Given the description of an element on the screen output the (x, y) to click on. 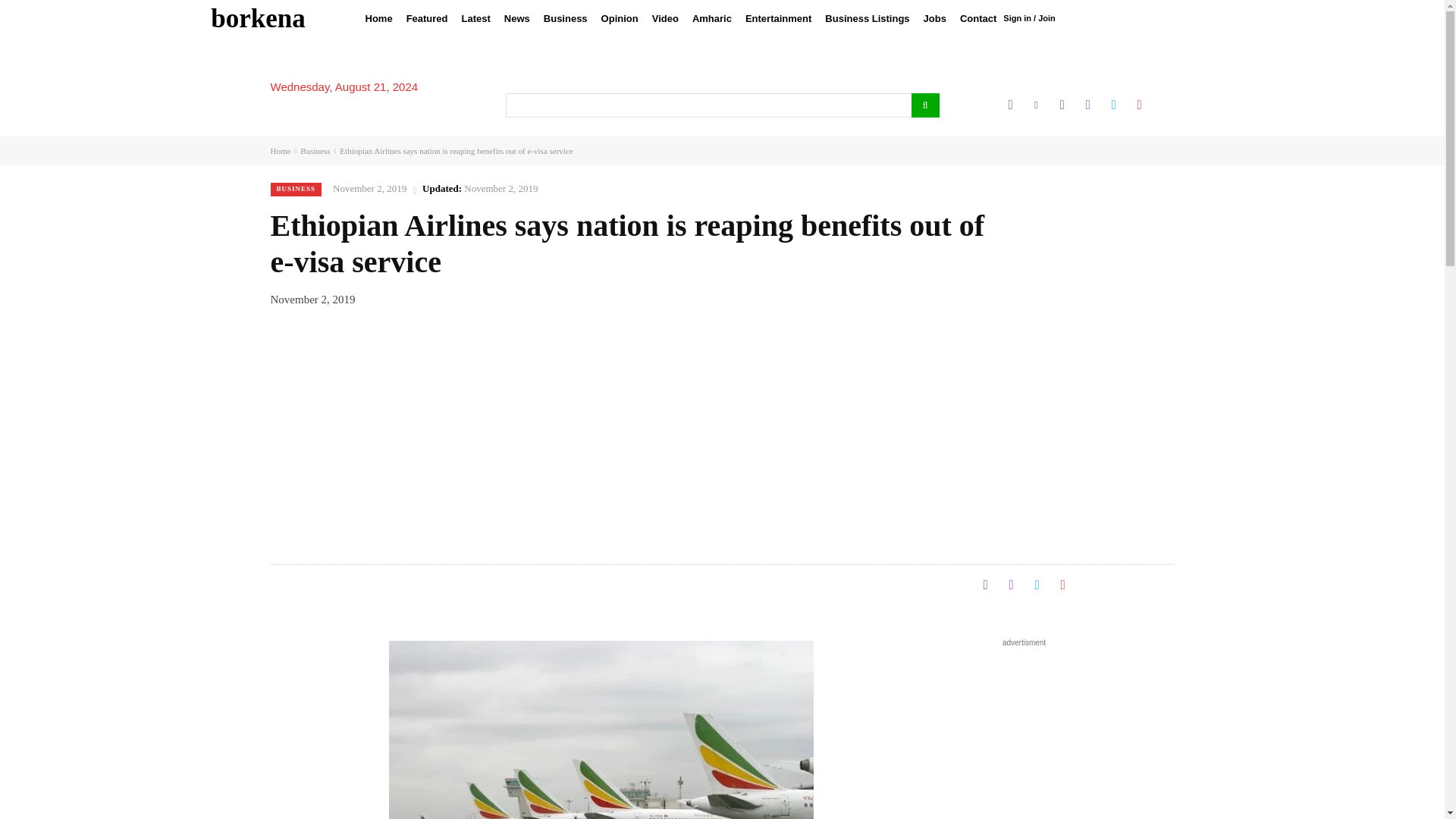
Business (565, 18)
Entertainment (778, 18)
News (517, 18)
Latest (475, 18)
Featured (426, 18)
Video (665, 18)
Ethiopian News and Opinion  (257, 18)
Jobs (935, 18)
Contact (978, 18)
Home (378, 18)
